Given the description of an element on the screen output the (x, y) to click on. 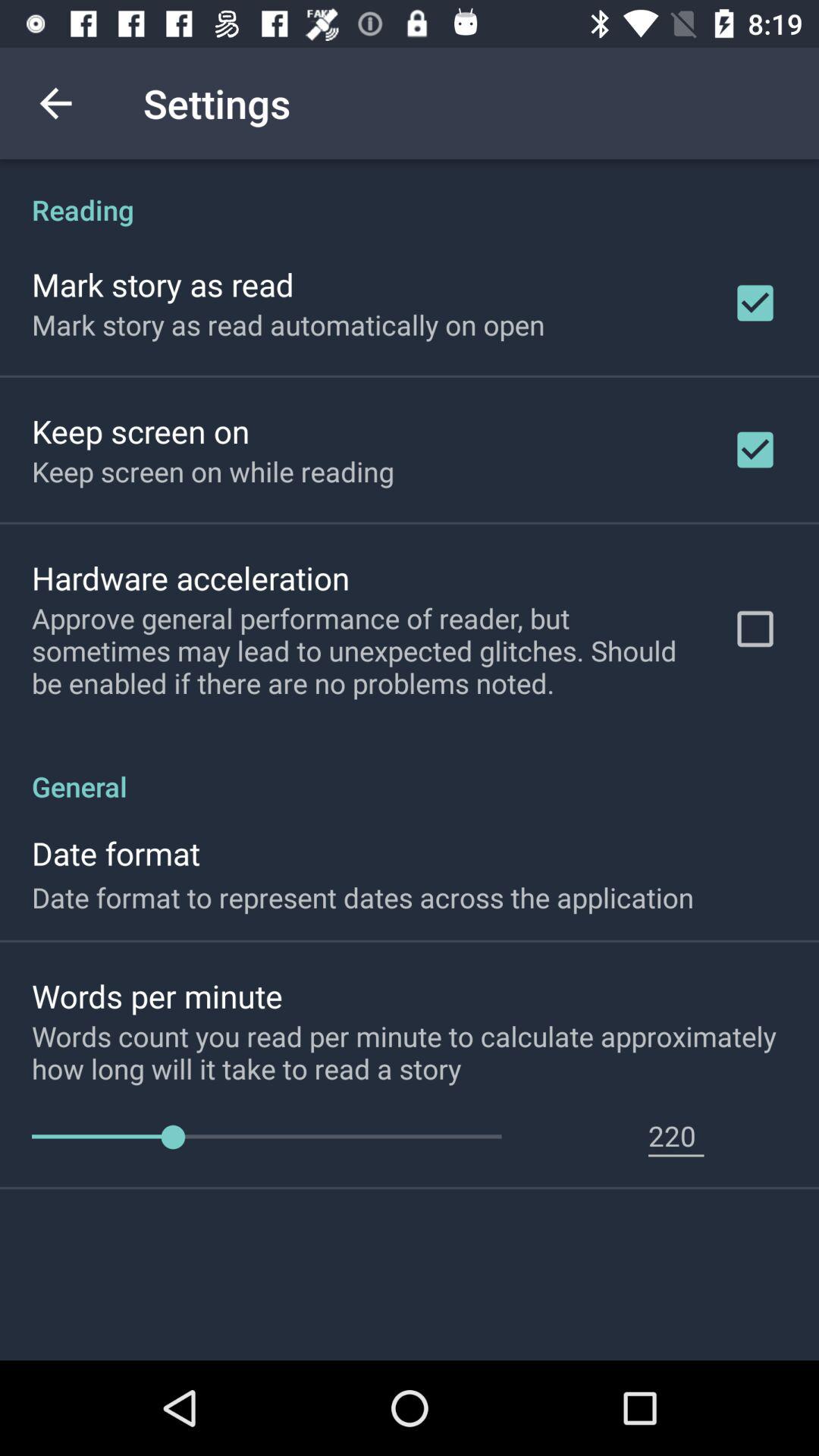
open item above approve general performance icon (190, 577)
